Given the description of an element on the screen output the (x, y) to click on. 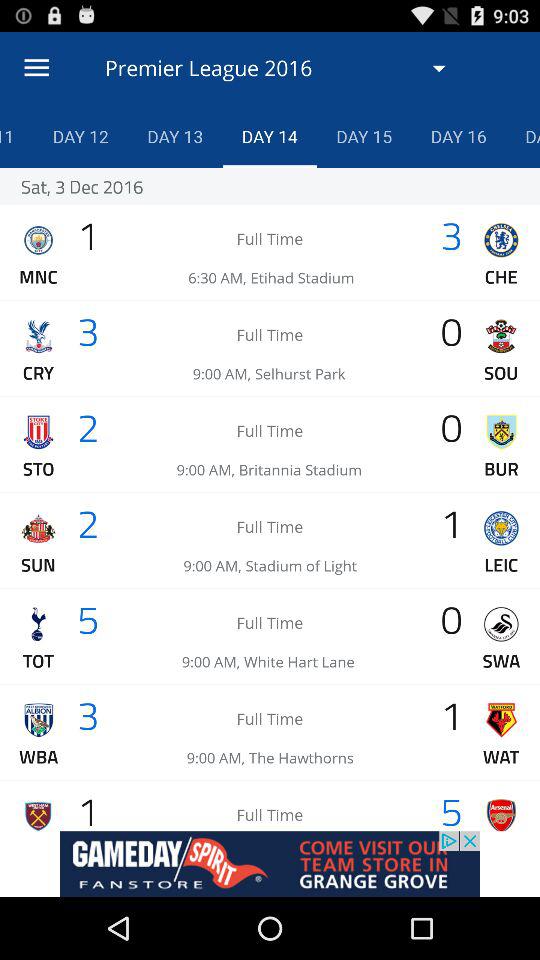
click the bottom right icon (500, 814)
select the text below the navigation bar (282, 67)
select the icon which is below wba (38, 814)
click on the icon which is above wat (500, 720)
